Given the description of an element on the screen output the (x, y) to click on. 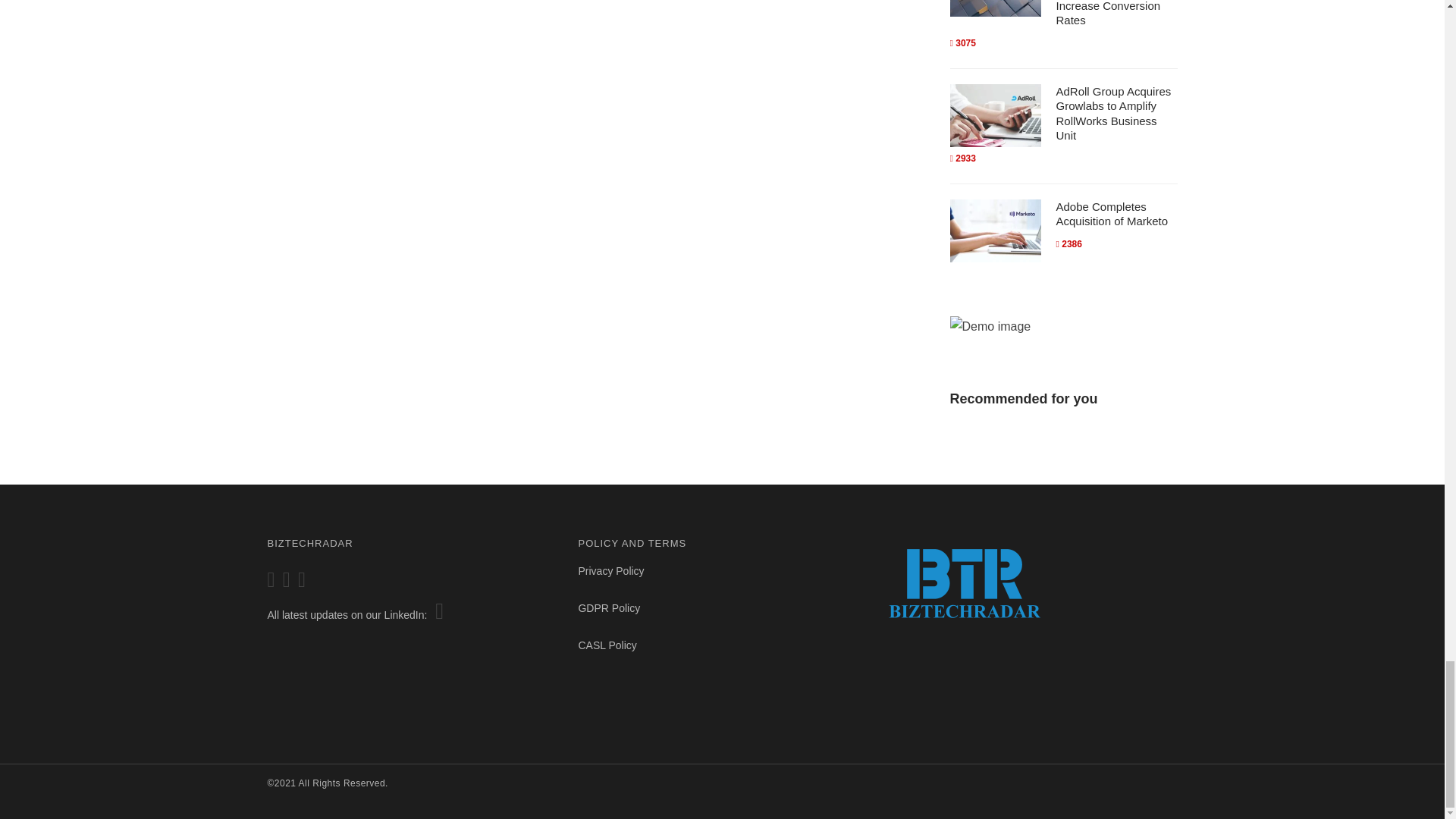
Views (1068, 244)
View Adobe Completes Acquisition of Marketo (1111, 213)
Views (962, 158)
Views (962, 42)
